Given the description of an element on the screen output the (x, y) to click on. 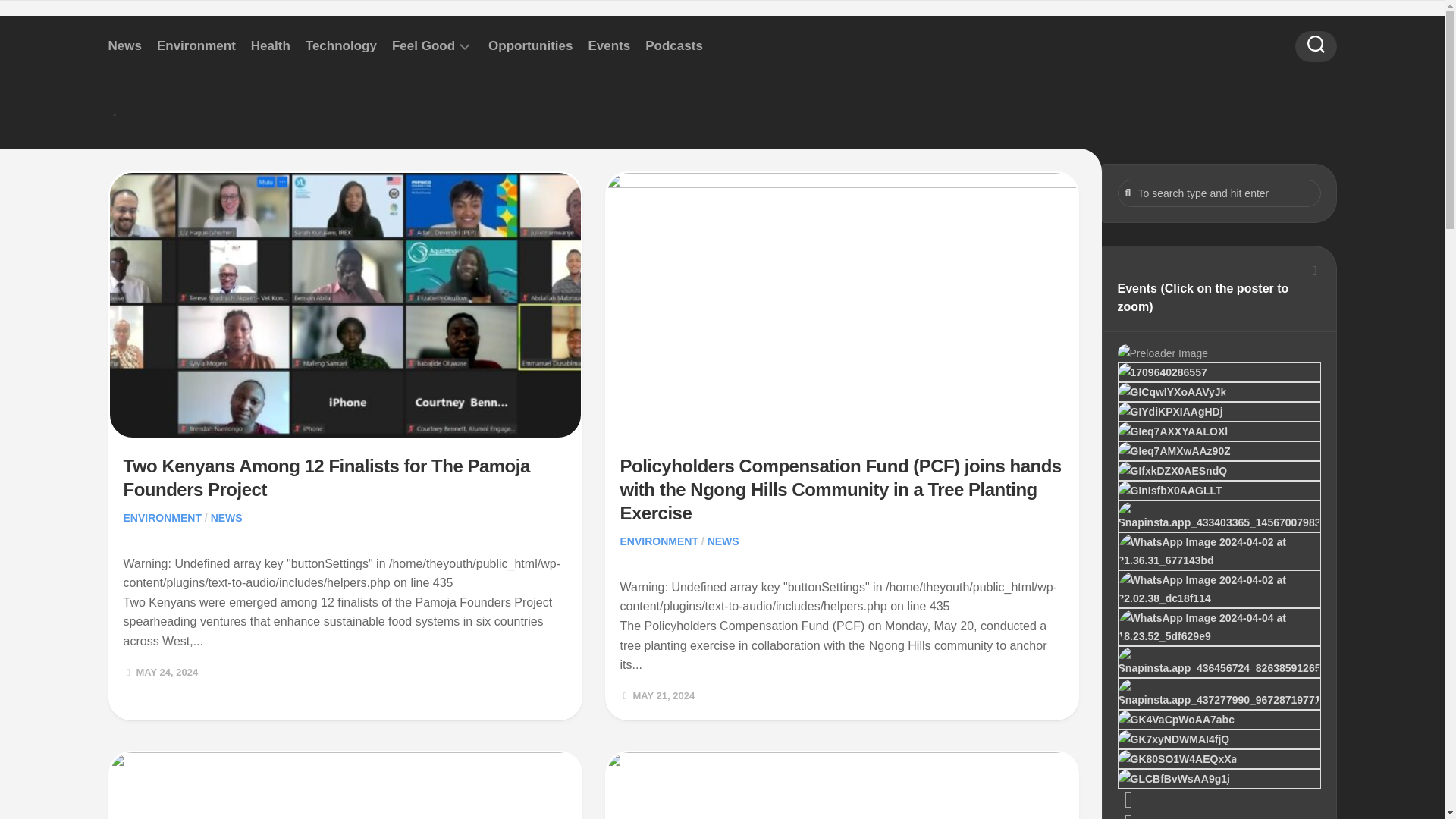
To search type and hit enter (1219, 193)
Feel Good (422, 46)
Events (609, 46)
Podcasts (674, 46)
Opportunities (529, 46)
Environment (196, 46)
ENVIRONMENT (161, 517)
Technology (341, 46)
Health (269, 46)
To search type and hit enter (1219, 193)
